Given the description of an element on the screen output the (x, y) to click on. 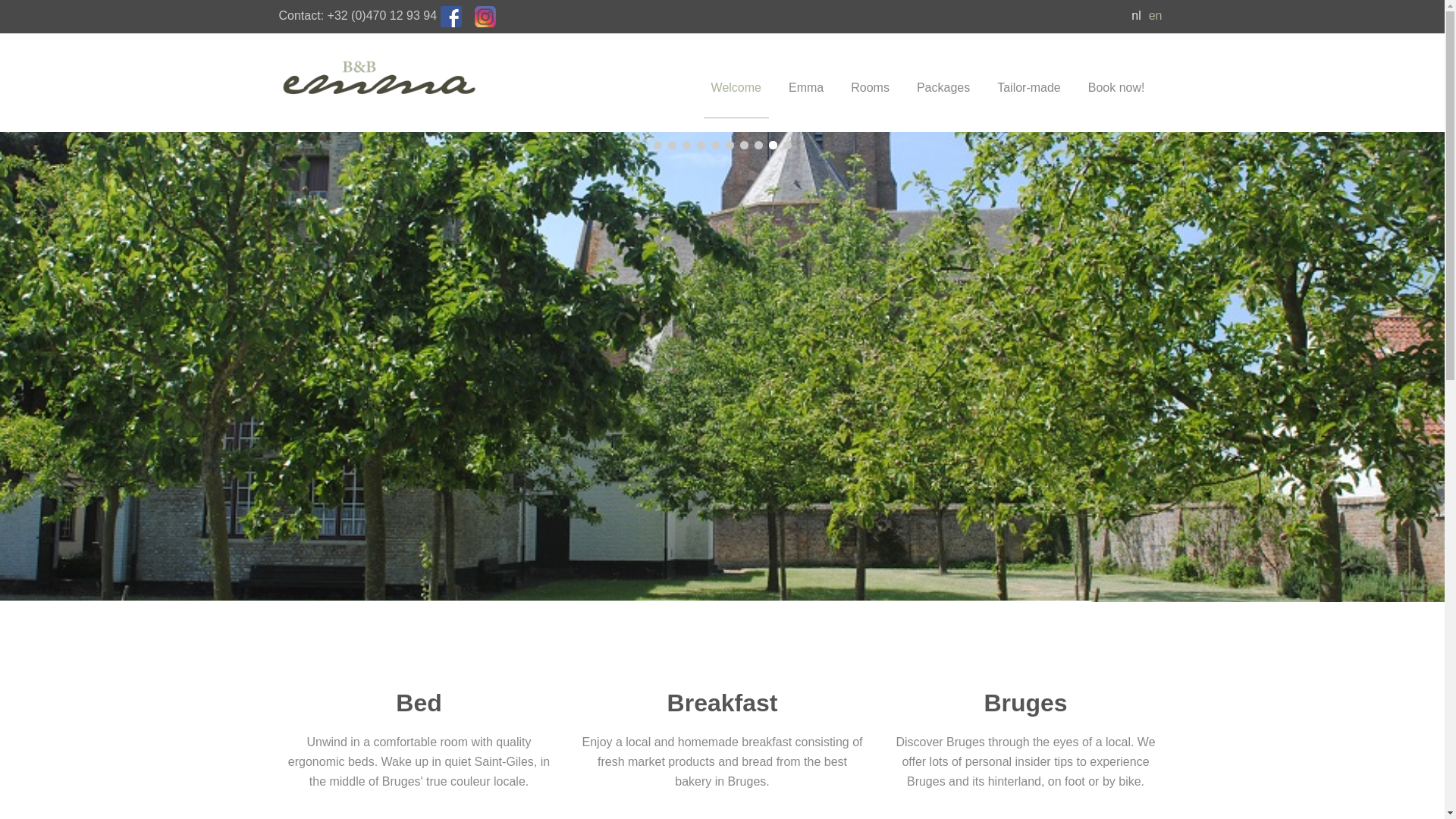
Packages Element type: text (943, 75)
Rooms Element type: text (870, 75)
Book now! Element type: text (1116, 75)
nl Element type: text (1135, 15)
Emma Element type: text (806, 75)
Welcome Element type: text (735, 75)
en Element type: text (1155, 15)
Tailor-made Element type: text (1028, 75)
